Given the description of an element on the screen output the (x, y) to click on. 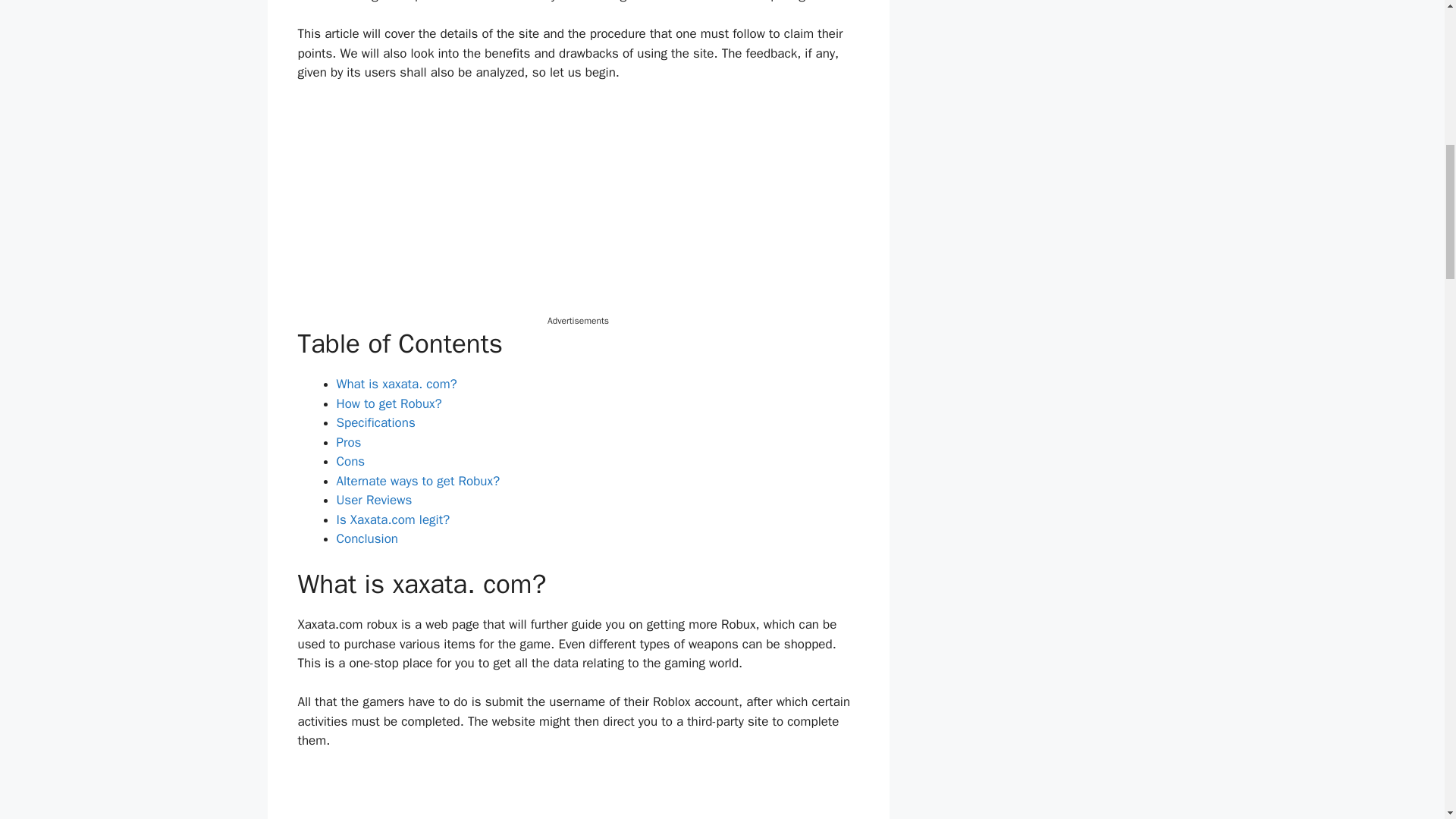
Pros (348, 442)
User Reviews (374, 499)
Conclusion (366, 538)
Specifications (375, 422)
Cons (350, 461)
How to get Robux? (389, 403)
Is Xaxata.com legit? (392, 519)
What is xaxata. com? (396, 383)
Alternate ways to get Robux? (418, 480)
